Given the description of an element on the screen output the (x, y) to click on. 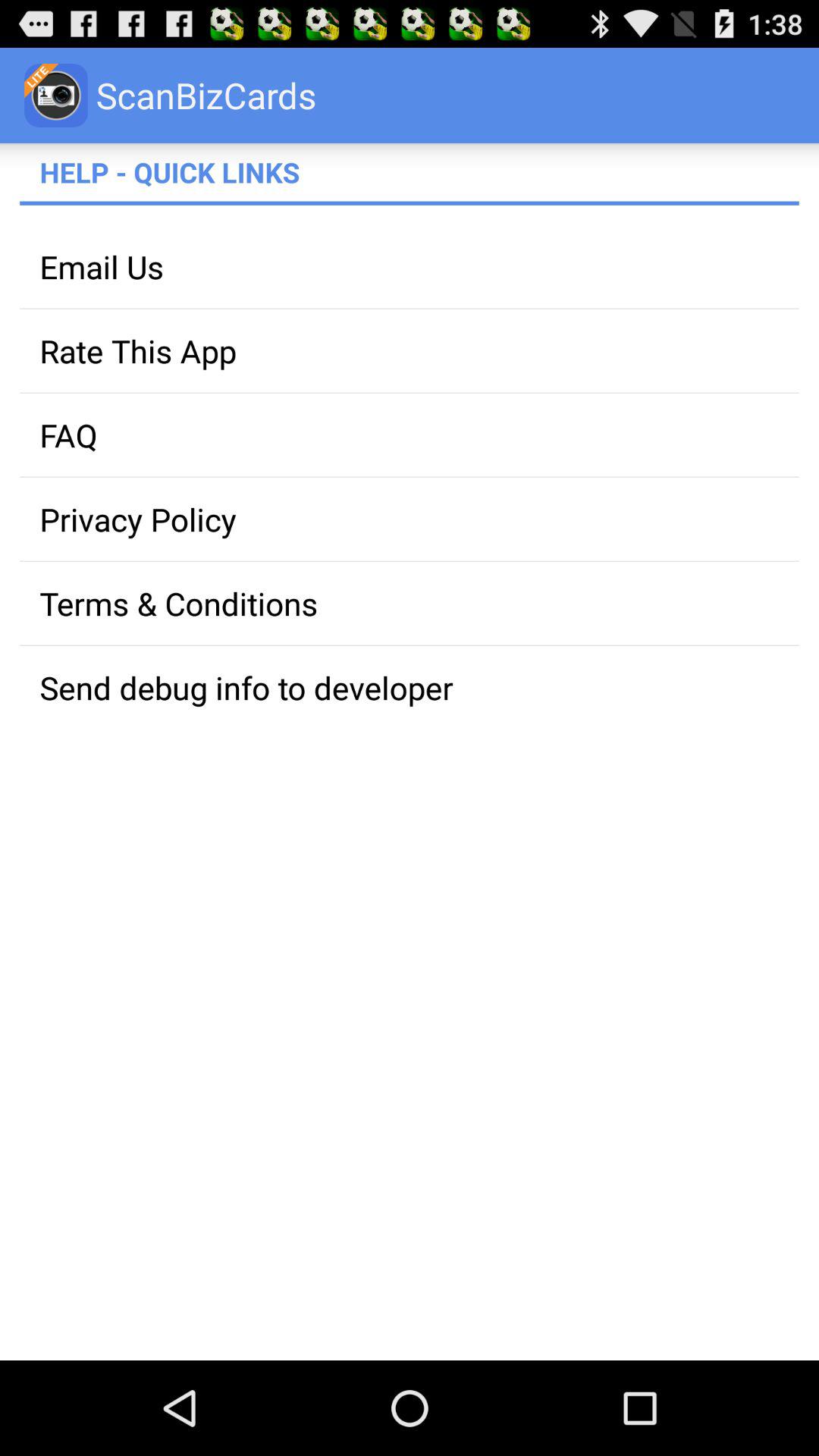
tap faq app (409, 434)
